Given the description of an element on the screen output the (x, y) to click on. 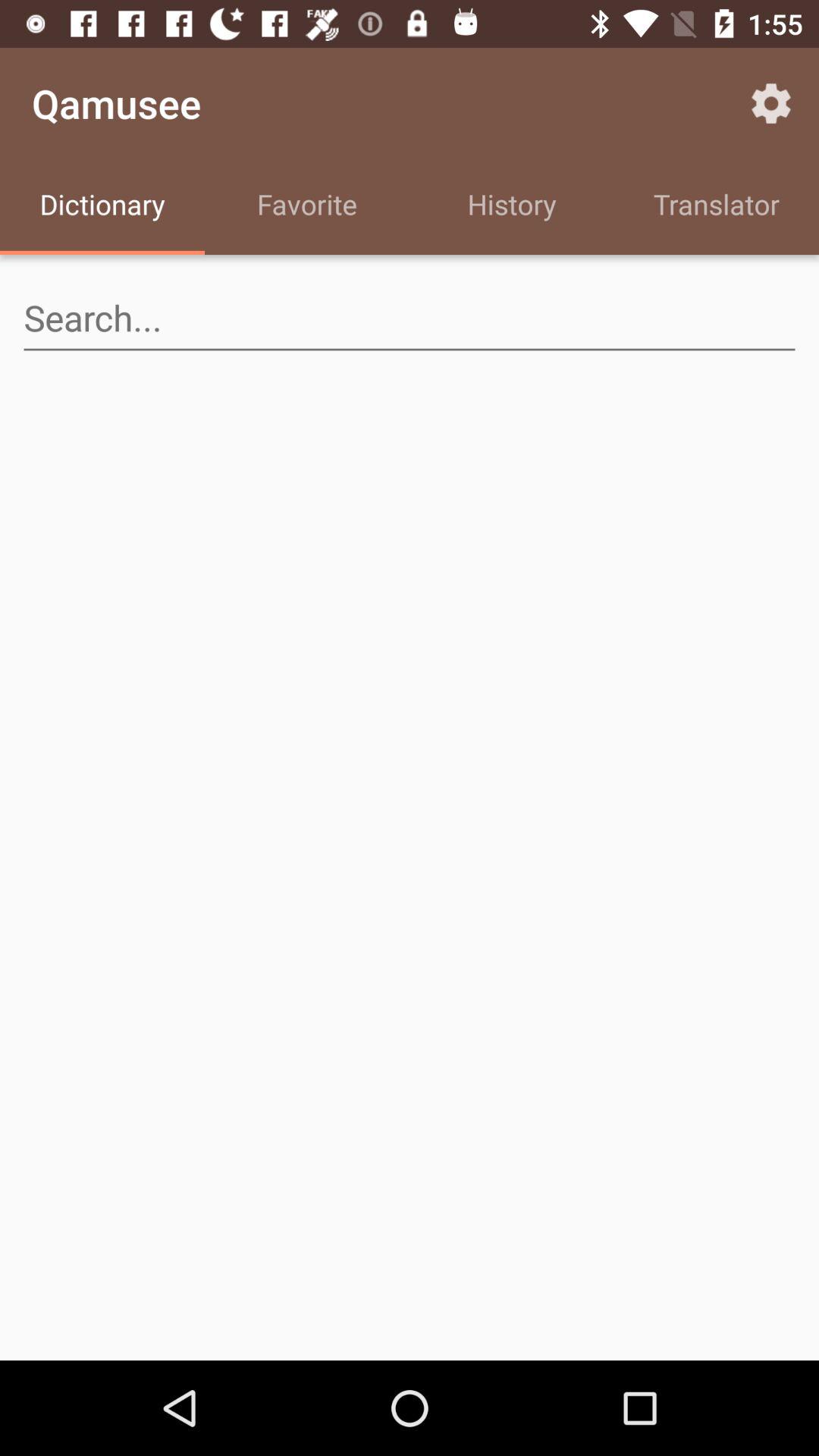
select item next to favorite item (102, 206)
